Given the description of an element on the screen output the (x, y) to click on. 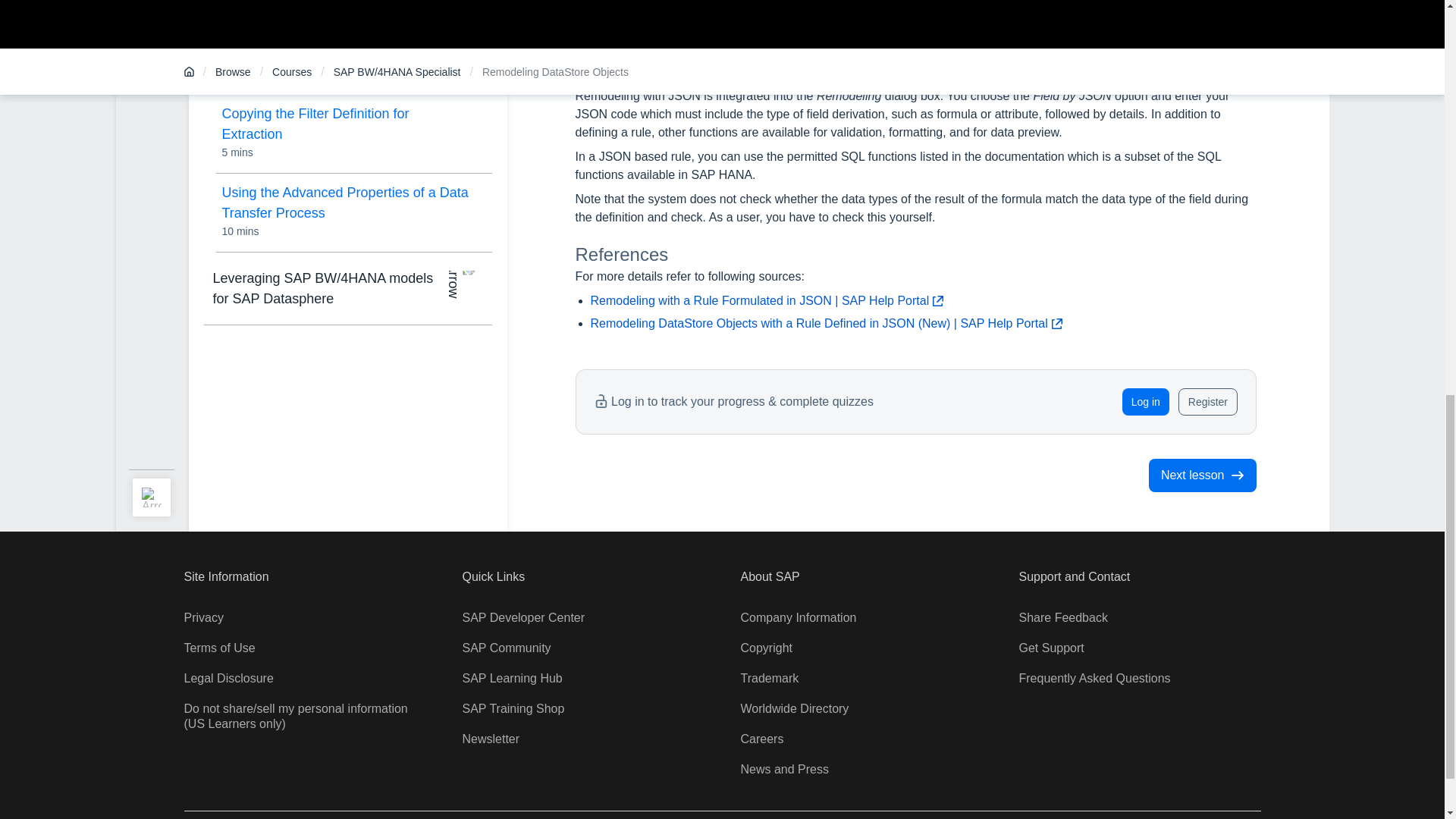
Newsletter (491, 738)
Share Feedback (1063, 617)
SAP Training Shop (513, 707)
SAP Community (507, 647)
Next lesson (1202, 475)
Log in (1145, 401)
Careers (761, 738)
SAP Learning Hub (512, 677)
Terms of Use (218, 647)
Get Support (1051, 647)
